Given the description of an element on the screen output the (x, y) to click on. 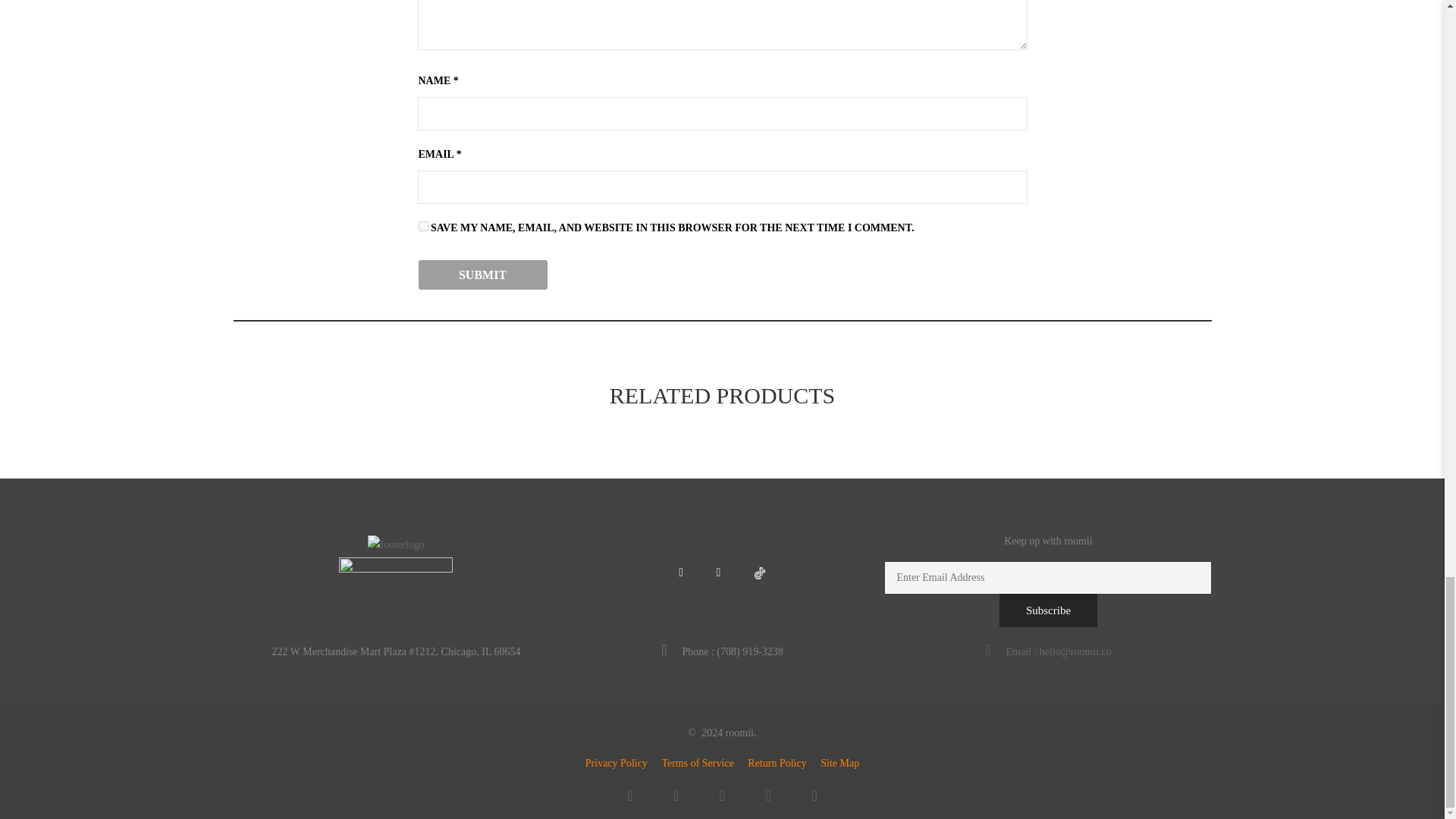
yes (423, 225)
Subscribe (1047, 610)
Submit (483, 274)
